Given the description of an element on the screen output the (x, y) to click on. 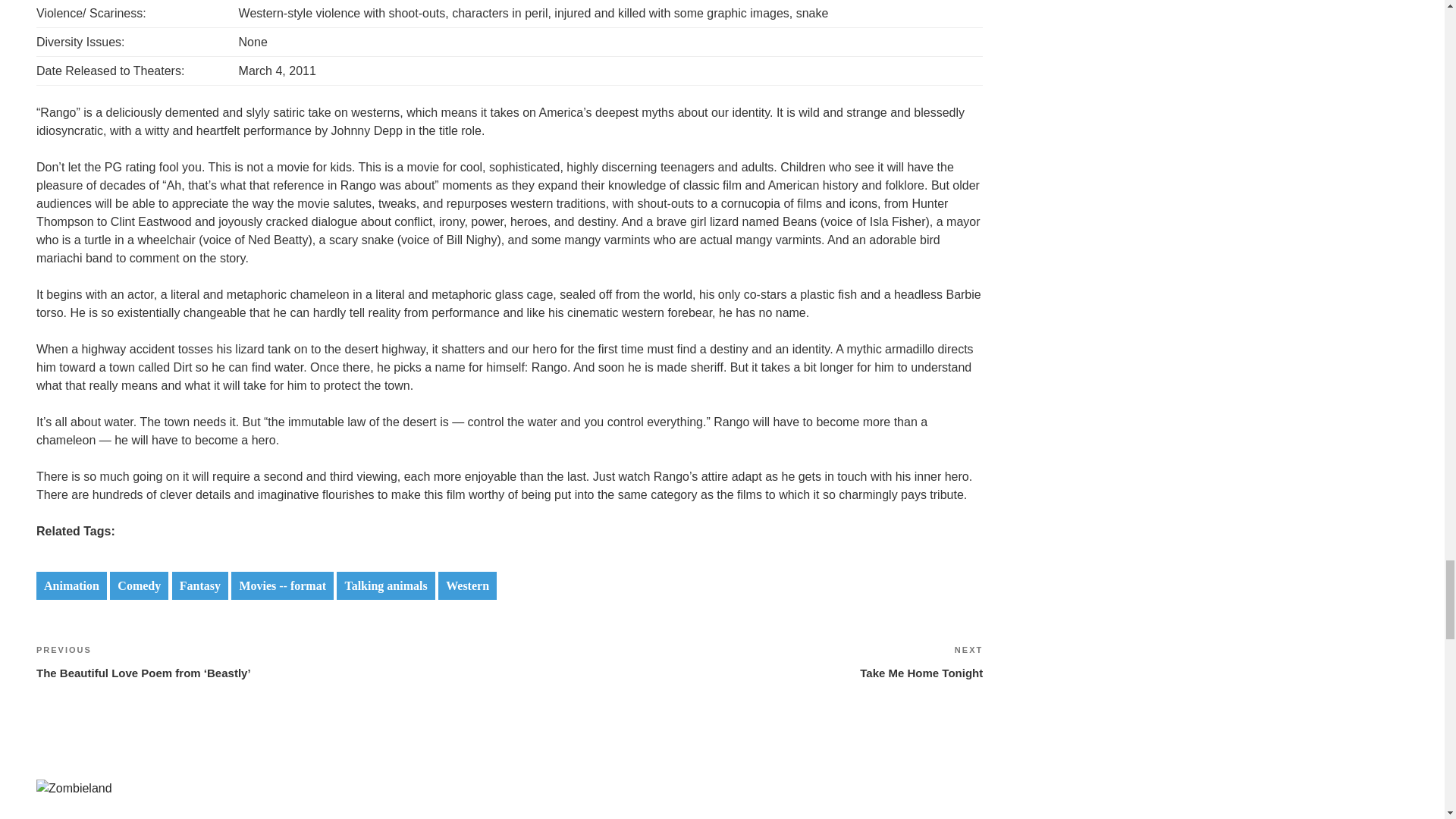
Fantasy (199, 585)
Talking animals (384, 585)
Western (745, 661)
Comedy (467, 585)
Zombieland (139, 585)
Animation (74, 788)
Movies -- format (71, 585)
